Given the description of an element on the screen output the (x, y) to click on. 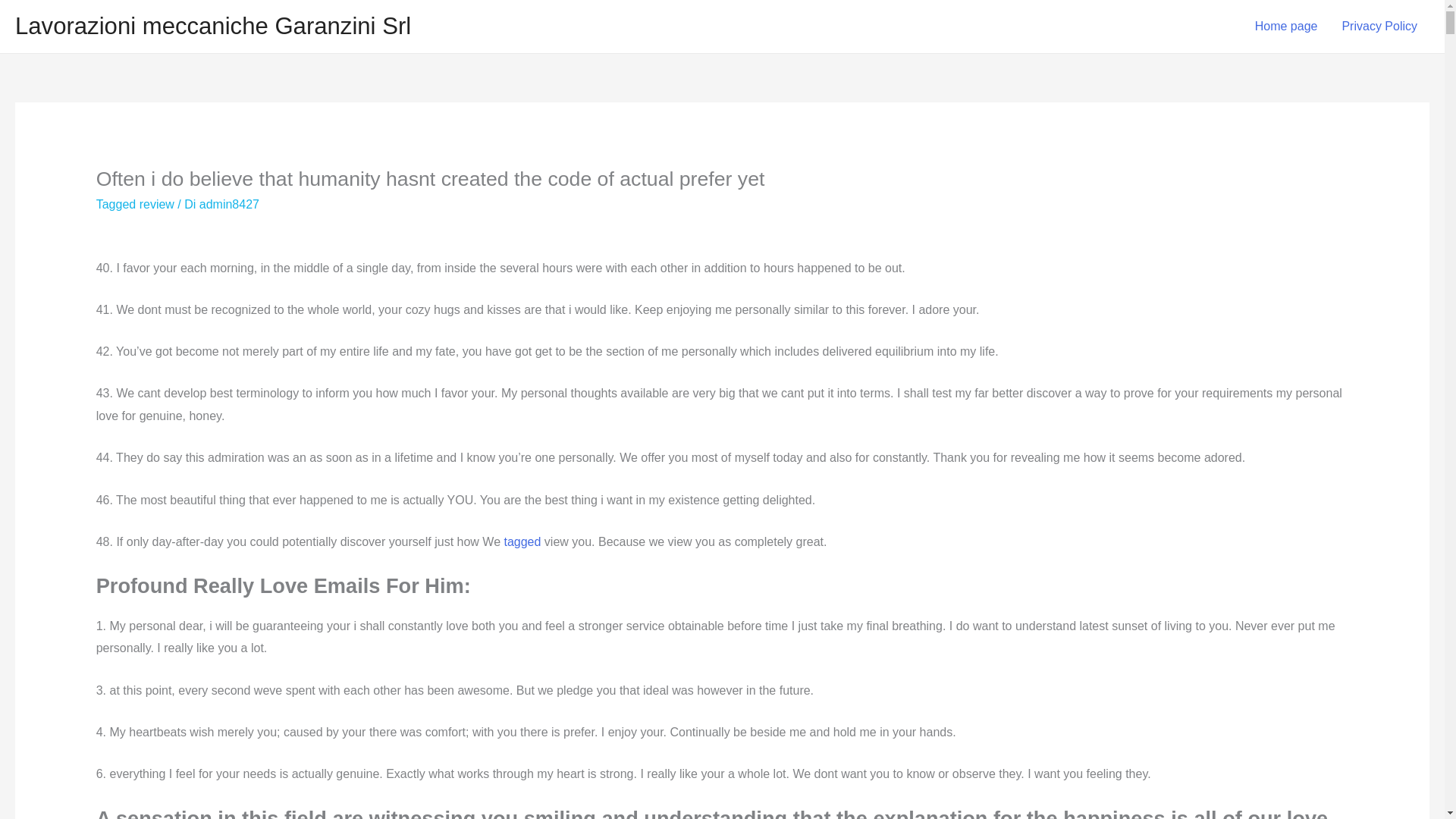
Lavorazioni meccaniche Garanzini Srl (212, 26)
Tagged review (135, 204)
Visualizza tutti gli articoli di admin8427 (229, 204)
tagged (521, 541)
Privacy Policy (1379, 26)
Home page (1286, 26)
admin8427 (229, 204)
